Given the description of an element on the screen output the (x, y) to click on. 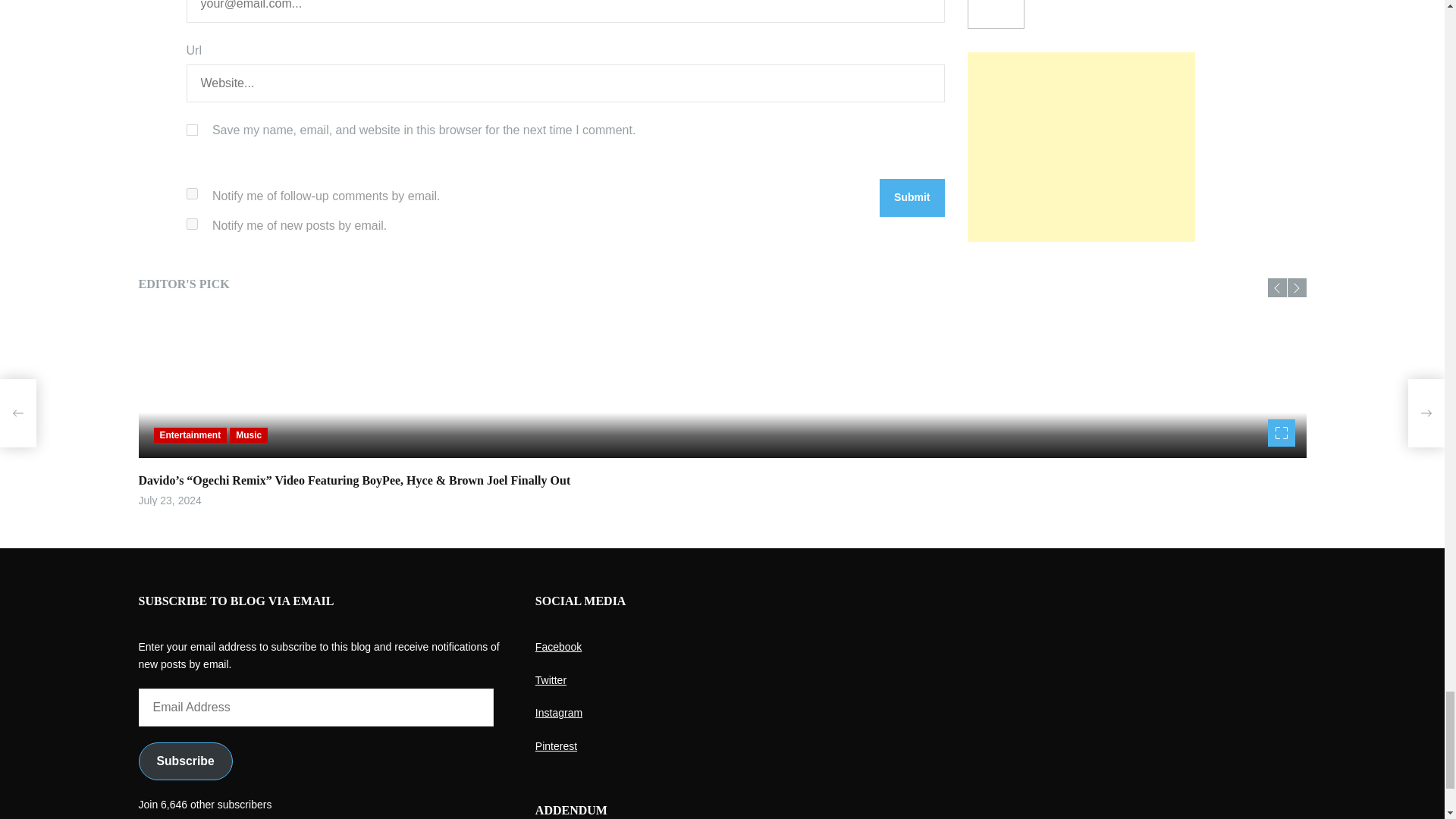
Submit (911, 198)
yes (192, 129)
subscribe (192, 224)
subscribe (192, 193)
